Given the description of an element on the screen output the (x, y) to click on. 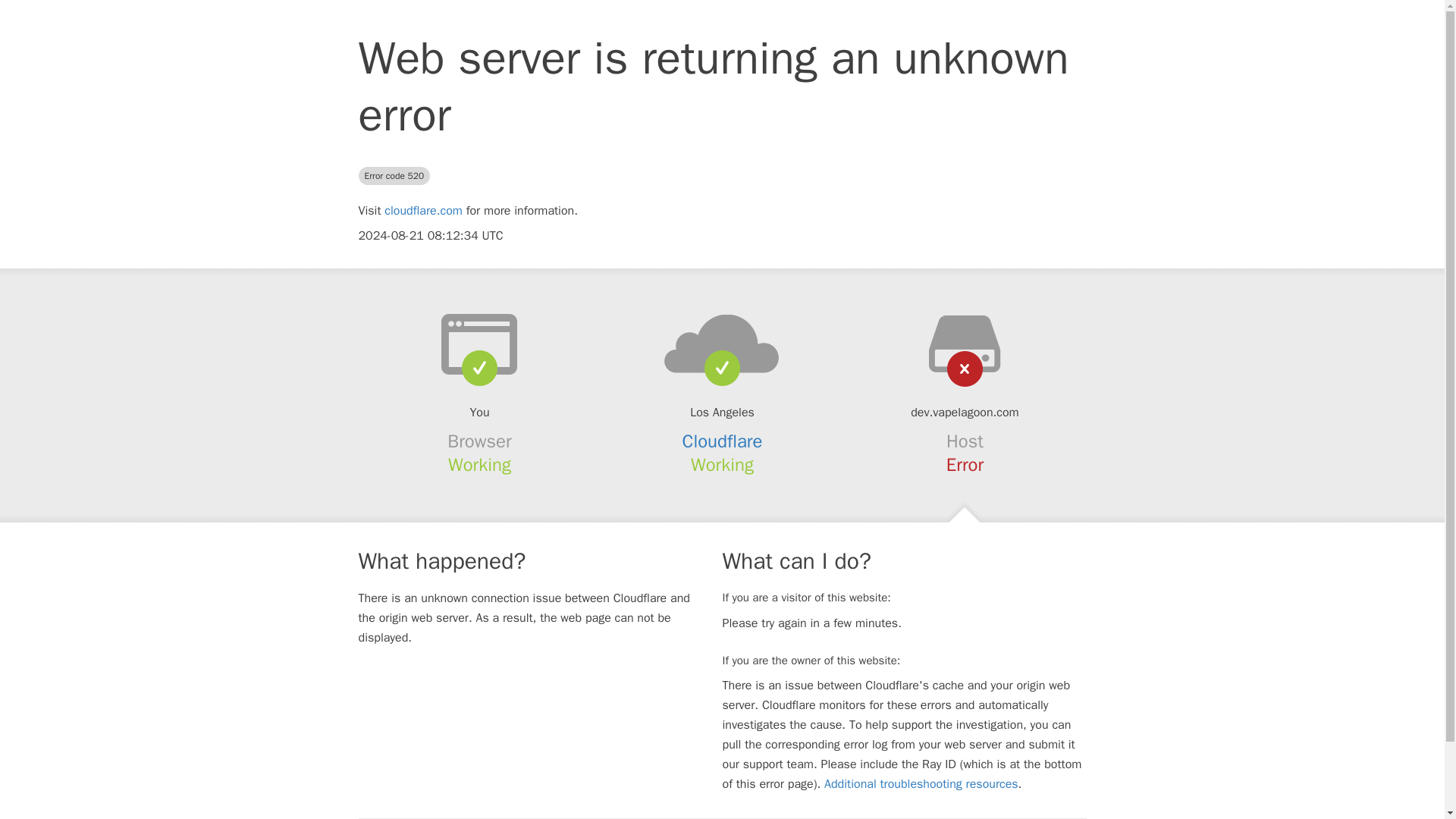
cloudflare.com (423, 210)
Additional troubleshooting resources (920, 783)
Cloudflare (722, 440)
